Given the description of an element on the screen output the (x, y) to click on. 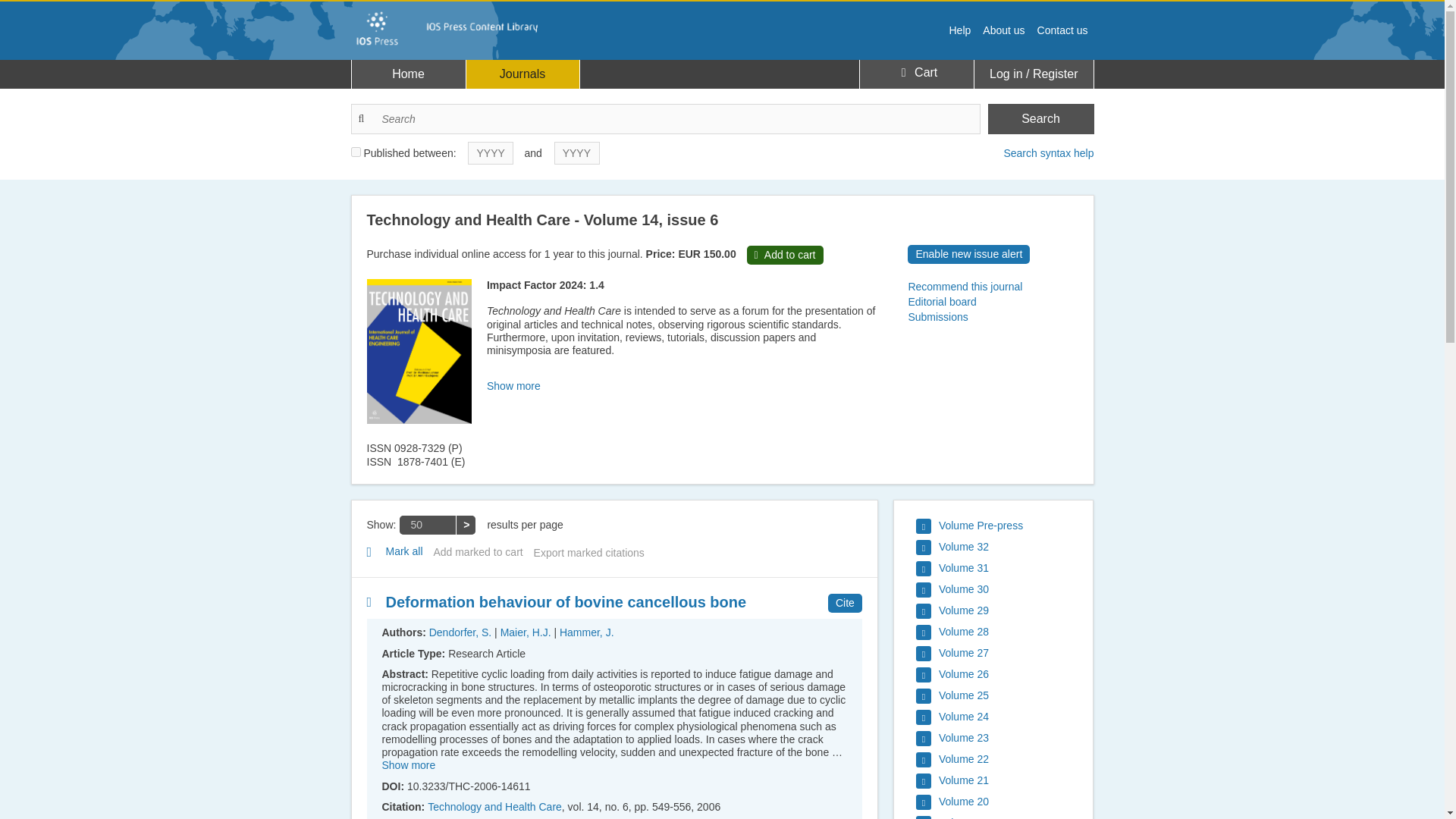
Press to access issues within this volume (951, 547)
on (354, 152)
Search syntax help (1048, 152)
Press to access issues within this volume (951, 589)
Press to access issues within this volume (951, 674)
Home (408, 73)
Press to access issues within this volume (951, 632)
Enable new issue alert (968, 253)
Press to access issues within this volume (951, 568)
Cart (916, 72)
